Given the description of an element on the screen output the (x, y) to click on. 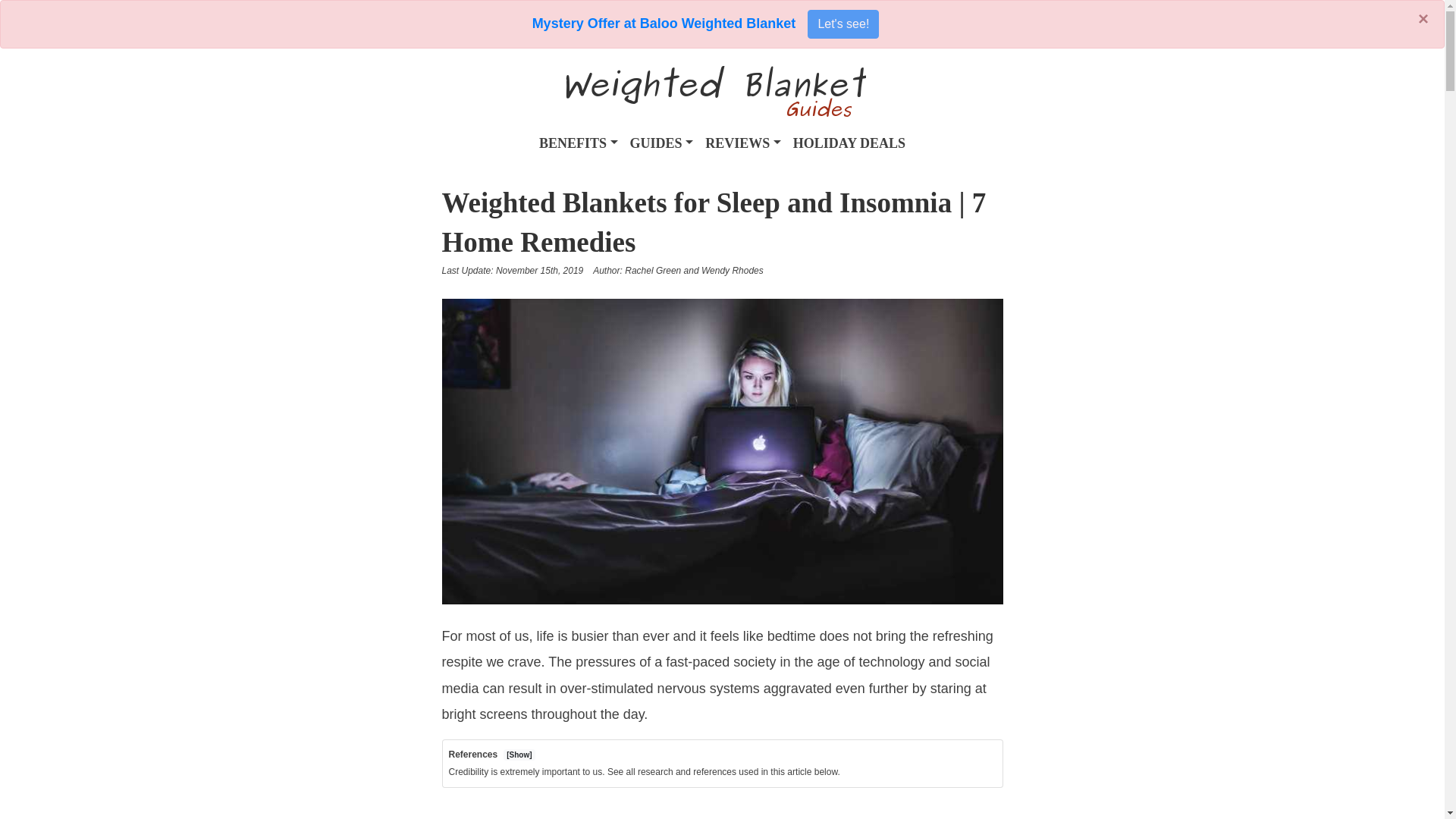
BENEFITS (578, 143)
Mystery Offer at Baloo Weighted BlanketLet's see! (705, 23)
Let's see! (843, 23)
GUIDES (662, 143)
